Given the description of an element on the screen output the (x, y) to click on. 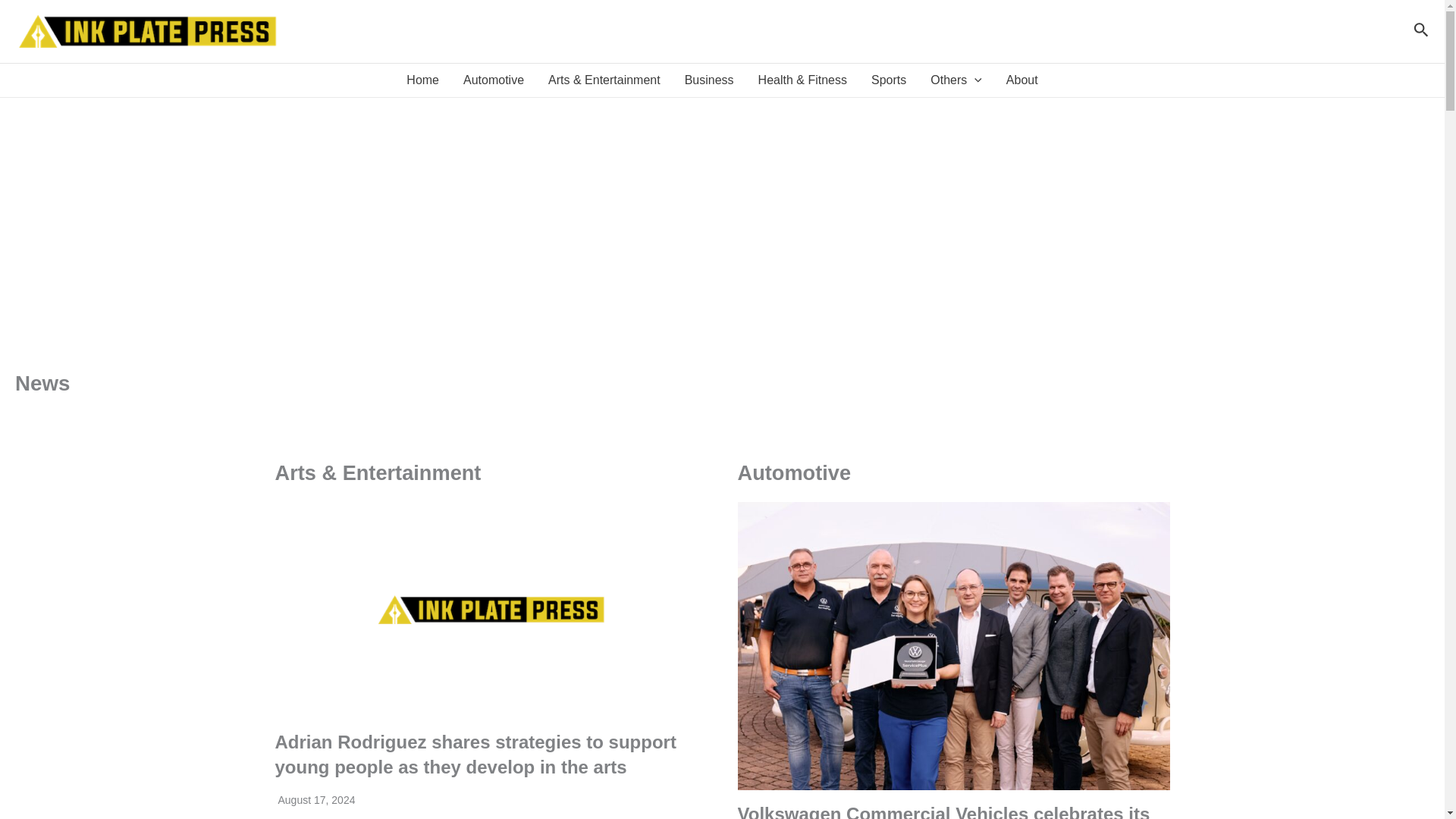
Business (708, 80)
Automotive (493, 80)
Home (422, 80)
About (1021, 80)
Sports (888, 80)
Others (956, 80)
